Given the description of an element on the screen output the (x, y) to click on. 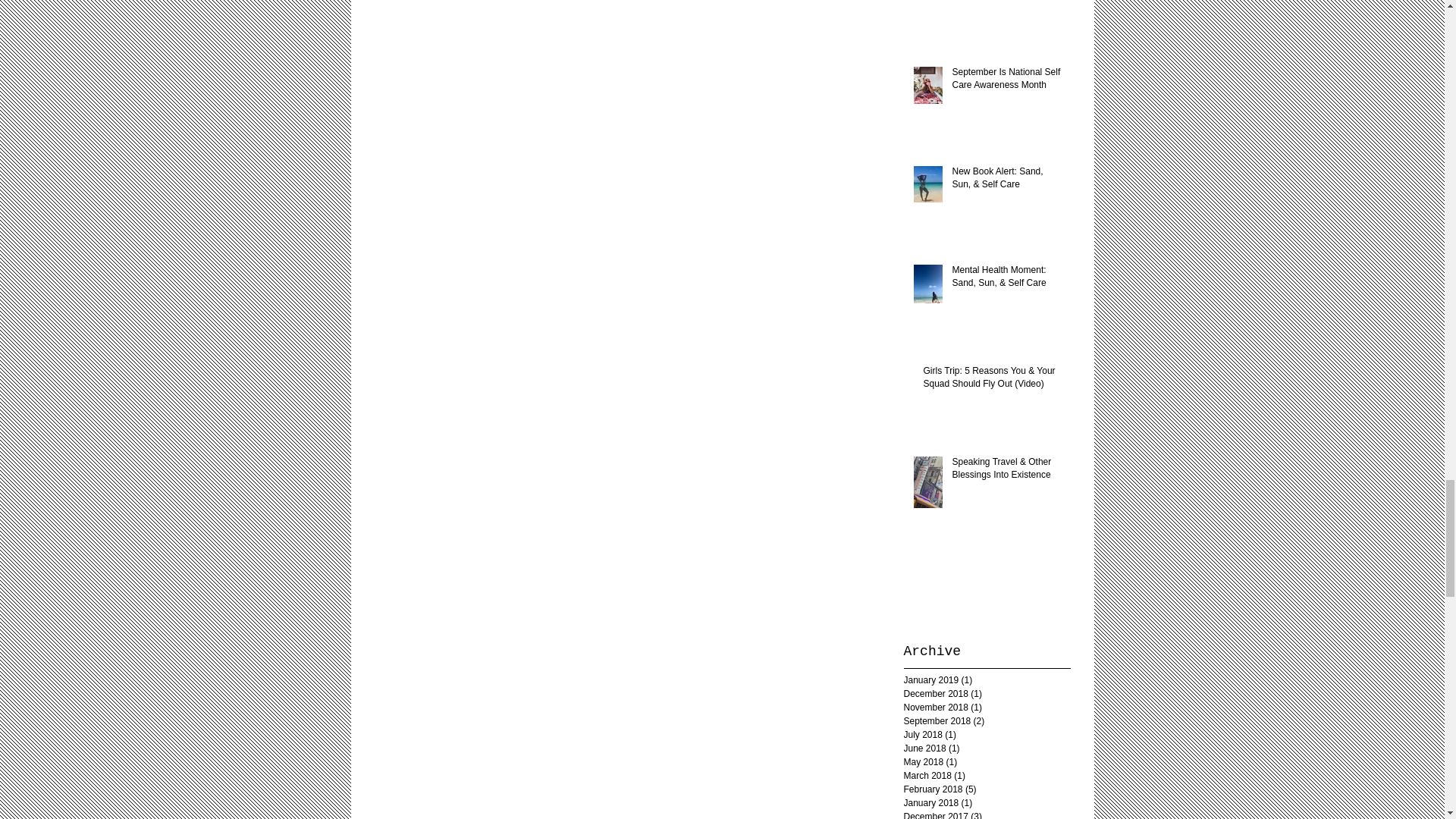
September Is National Self Care Awareness Month (1006, 81)
